Given the description of an element on the screen output the (x, y) to click on. 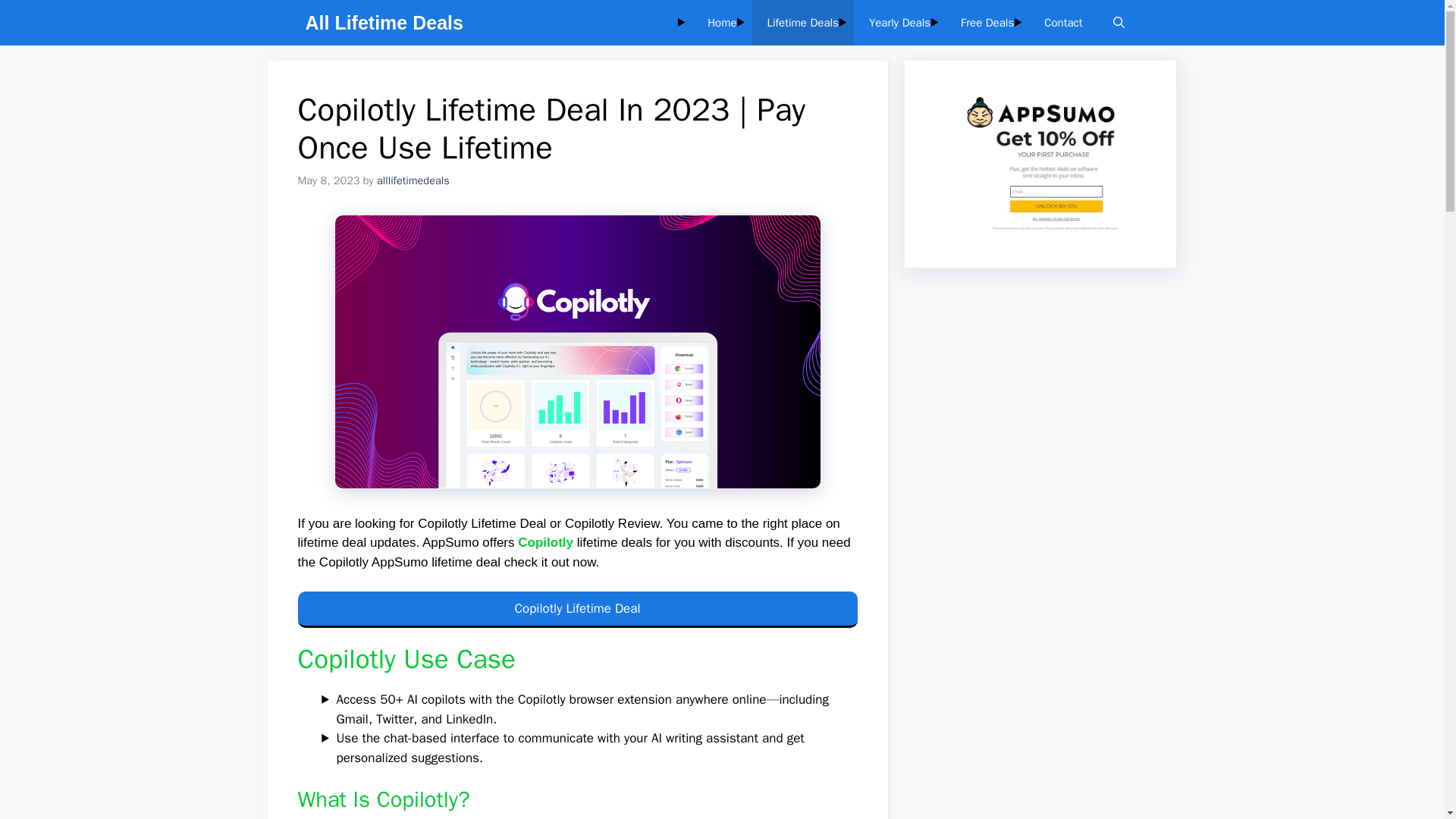
Copilotly (545, 542)
Lifetime Deals (802, 22)
alllifetimedeals (413, 180)
Copilotly Lifetime Deal (577, 609)
Free Deals (986, 22)
Contact (1063, 22)
Home (722, 22)
View all posts by alllifetimedeals (413, 180)
Yearly Deals (898, 22)
All Lifetime Deals (383, 22)
